Given the description of an element on the screen output the (x, y) to click on. 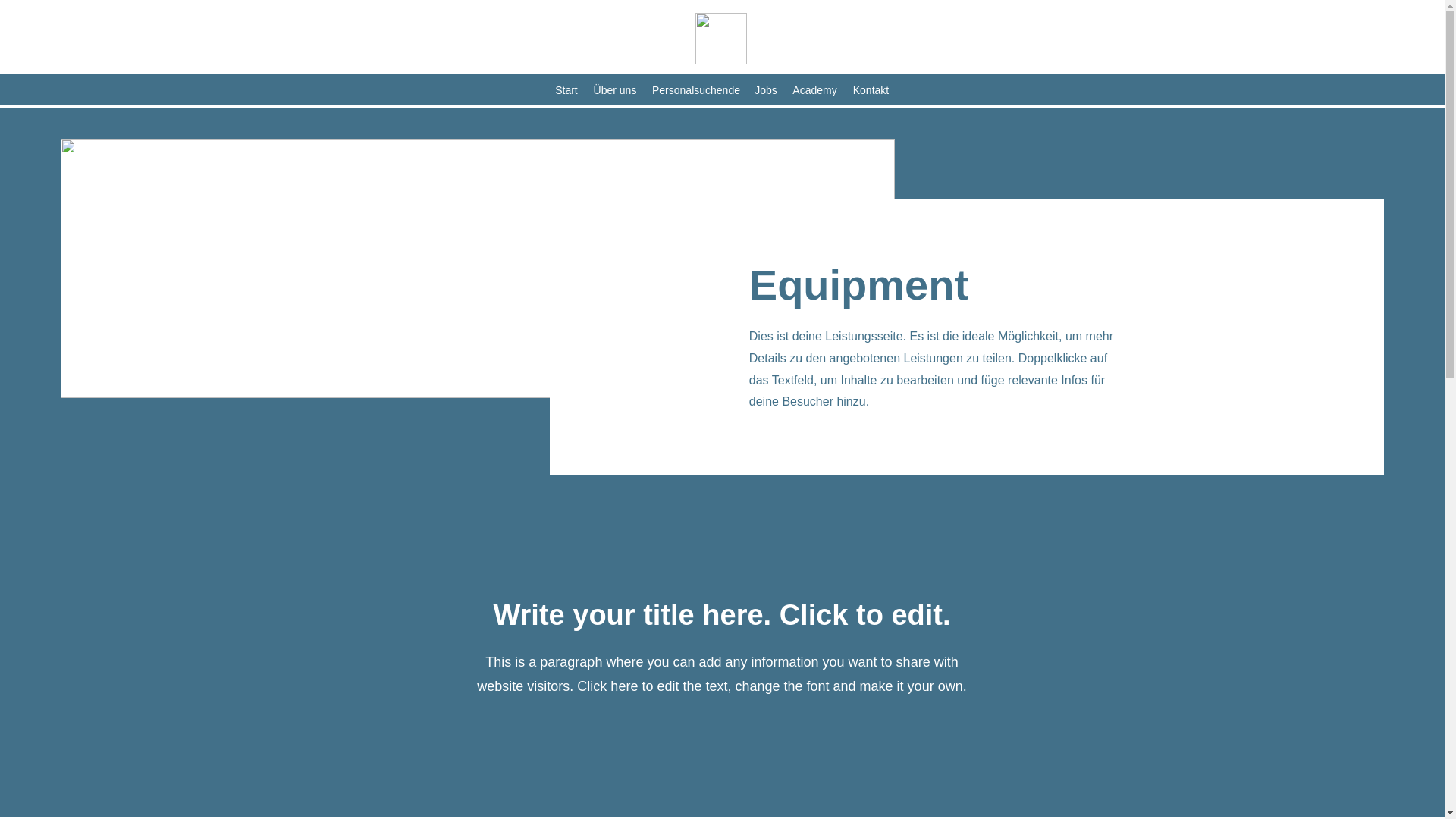
Kontakt (870, 89)
Academy (814, 89)
Jobs (765, 89)
Start (566, 89)
Logo-RESQPool-Outline-Transparent.png (720, 38)
Personalsuchende (695, 89)
